Given the description of an element on the screen output the (x, y) to click on. 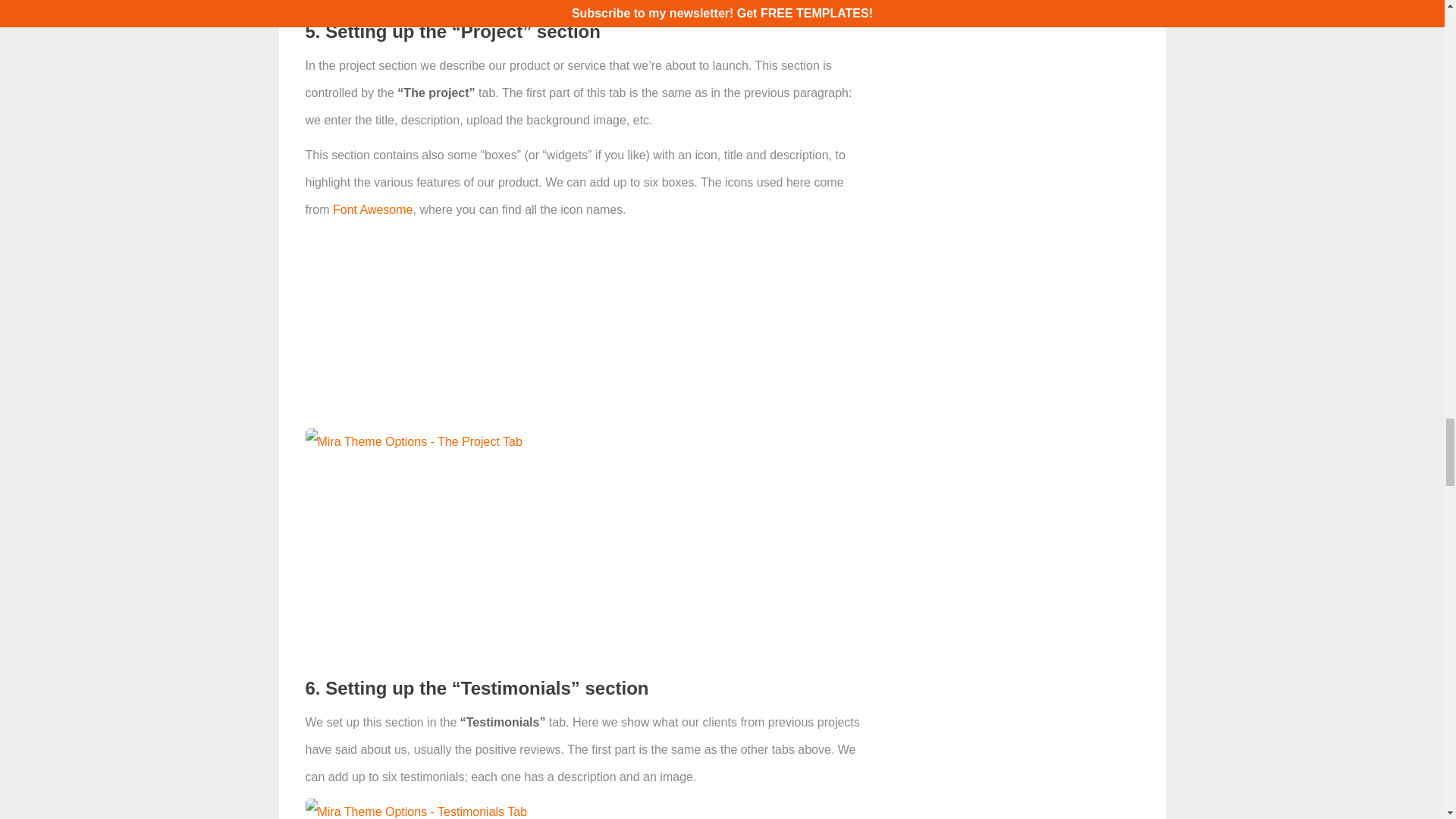
Mira Theme Options - The Project Tab (412, 441)
Mira Theme Options - Testimonials Tab (415, 808)
Font Awesome (373, 209)
